Given the description of an element on the screen output the (x, y) to click on. 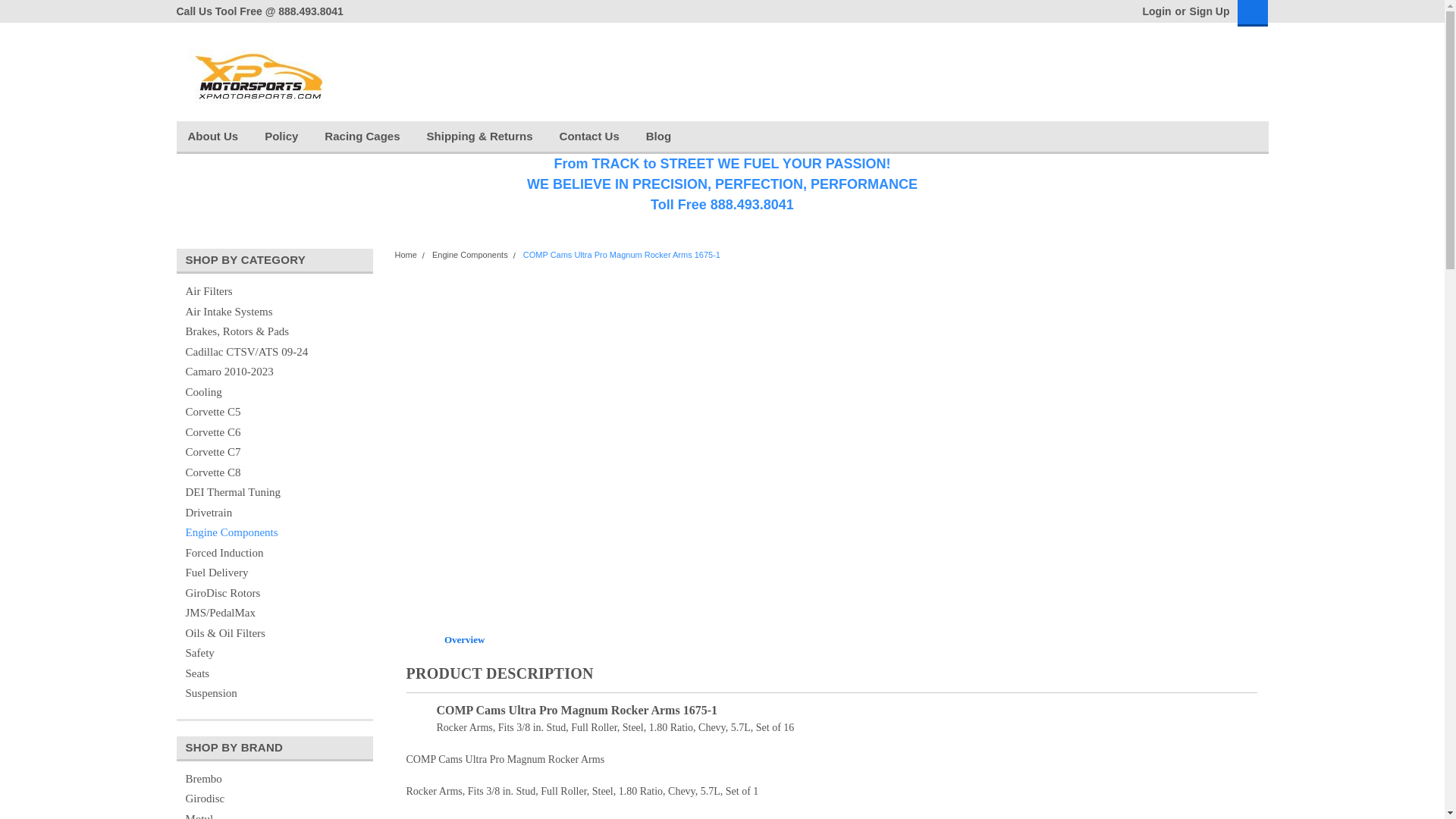
Sign Up (1208, 11)
XP MOTORSPORTS (254, 71)
Login (1155, 11)
